Given the description of an element on the screen output the (x, y) to click on. 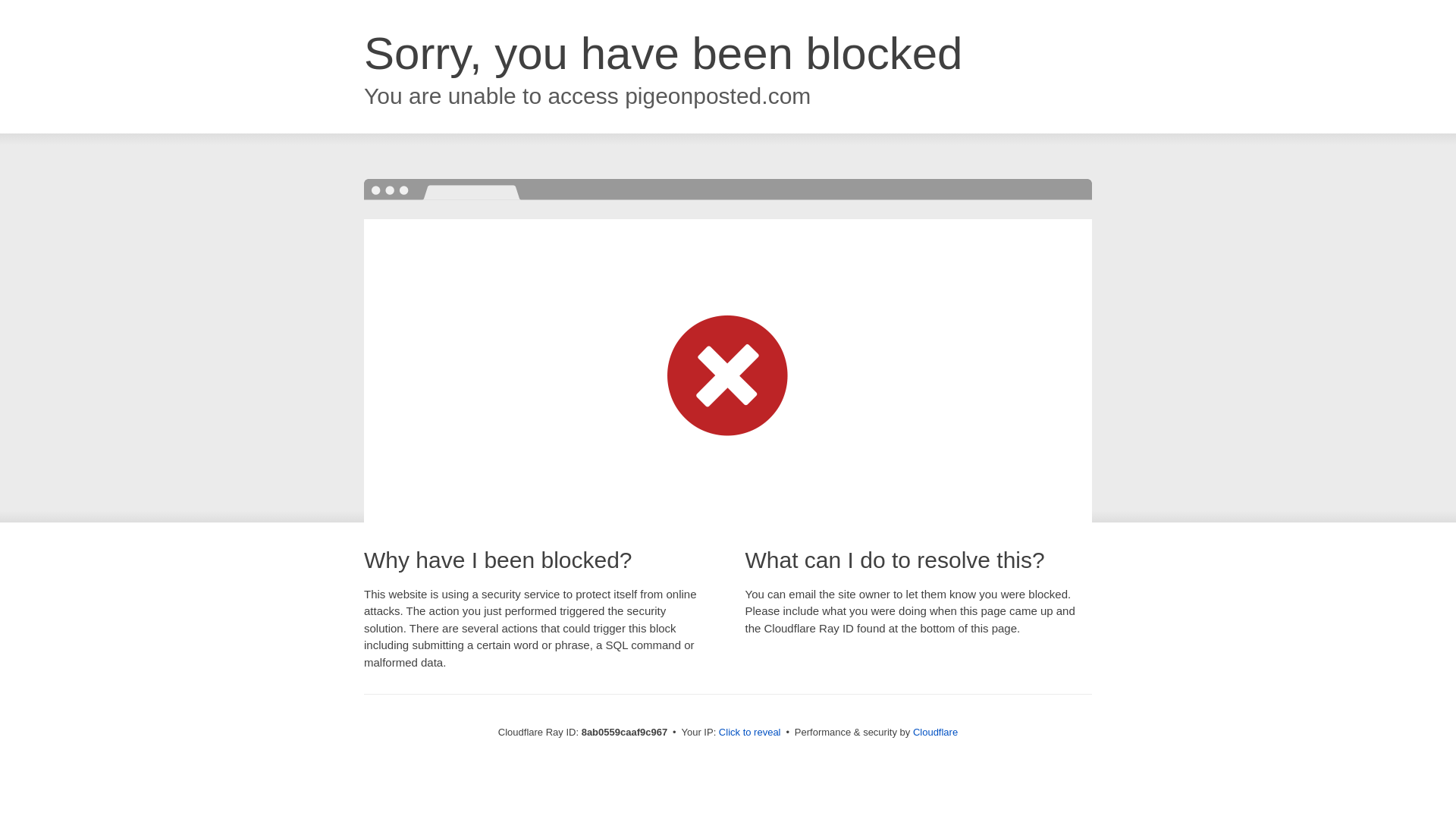
Cloudflare (935, 731)
Click to reveal (749, 732)
